Given the description of an element on the screen output the (x, y) to click on. 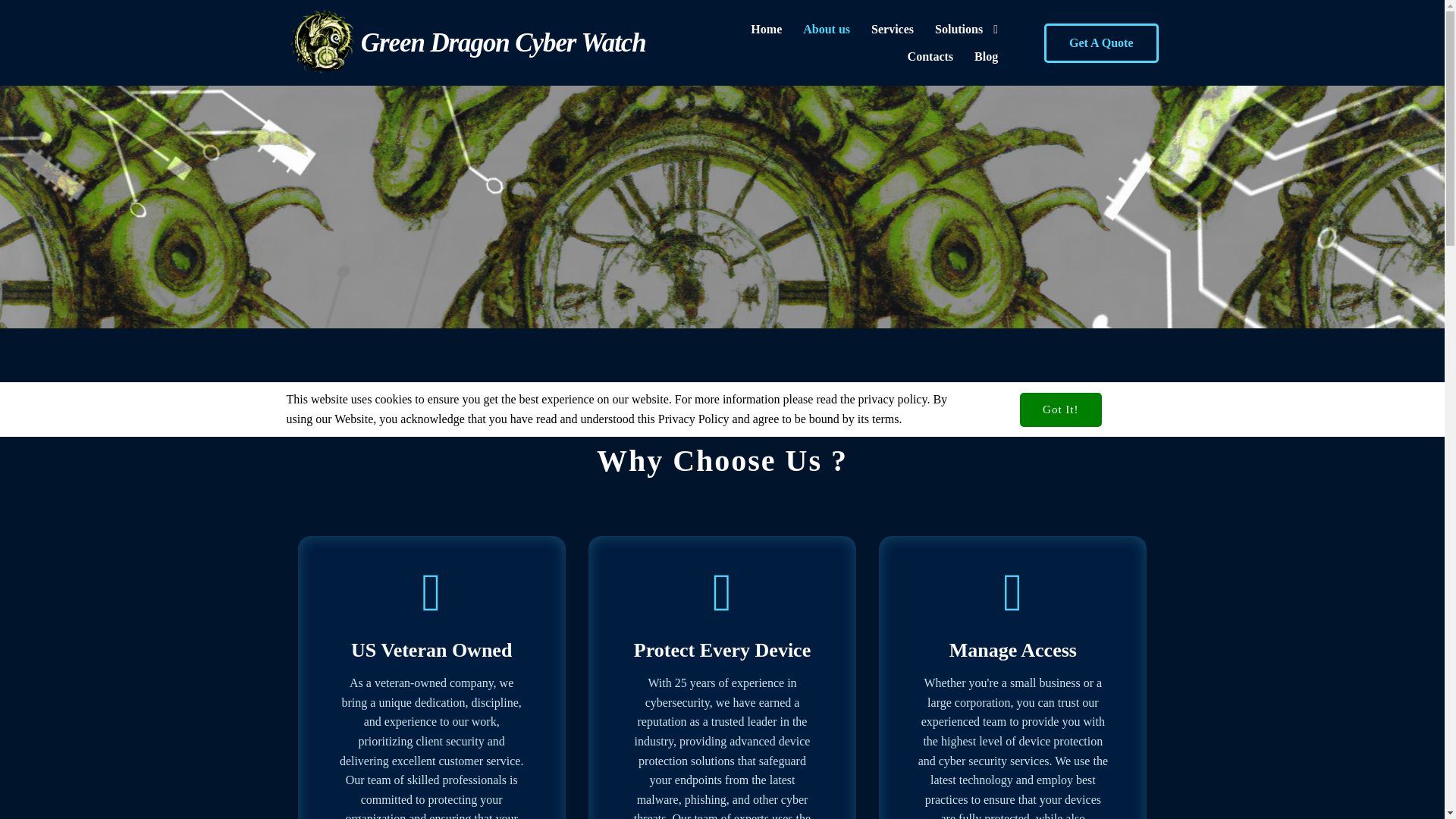
Green Dragon Cyber Watch (482, 42)
LOGO (321, 42)
About us (826, 29)
Services (892, 29)
Got It! (1060, 409)
Contacts (930, 56)
Home (765, 29)
Blog (986, 56)
Get A Quote (1100, 43)
Solutions (966, 29)
